Given the description of an element on the screen output the (x, y) to click on. 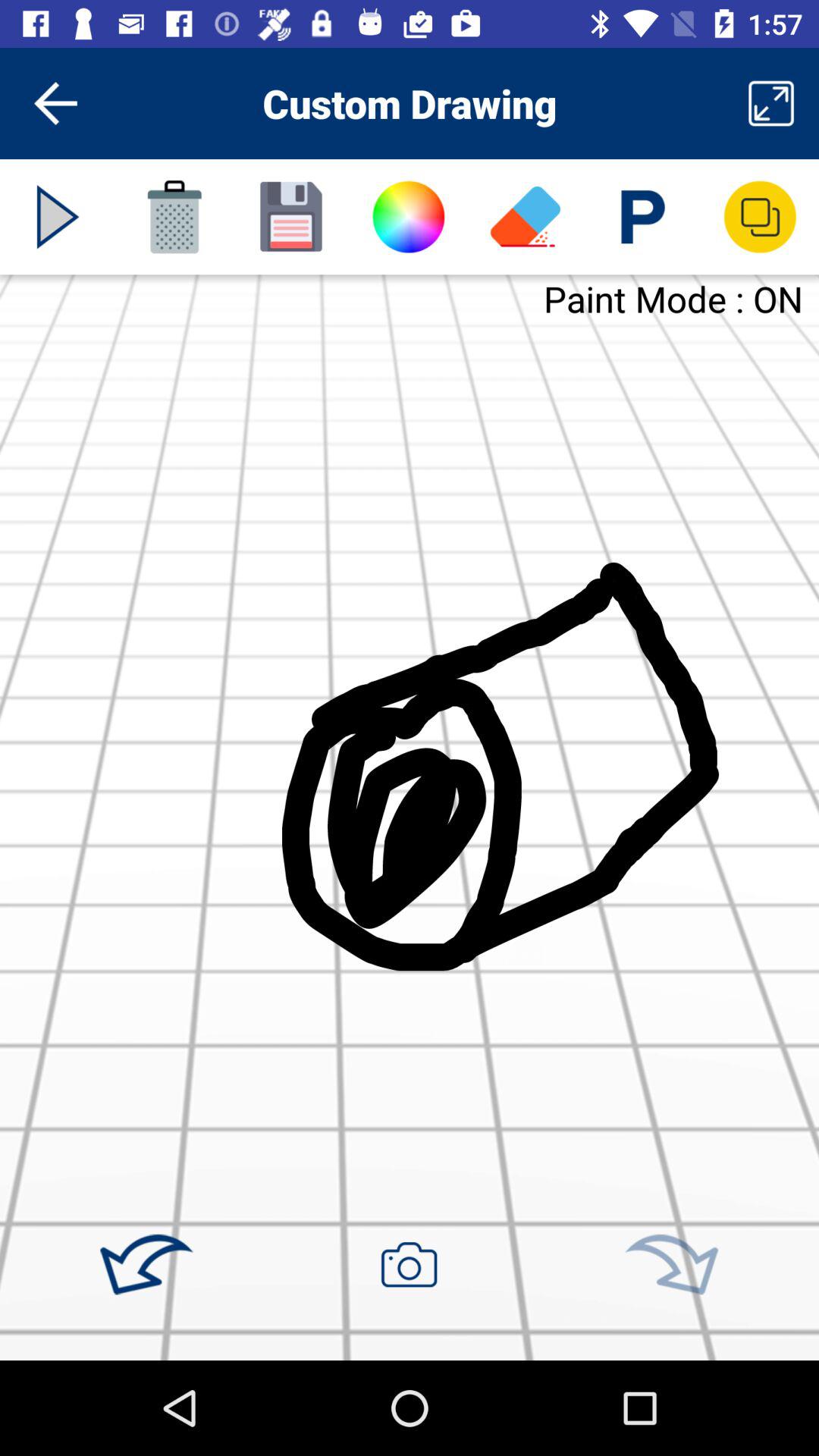
delete drawing (174, 216)
